Given the description of an element on the screen output the (x, y) to click on. 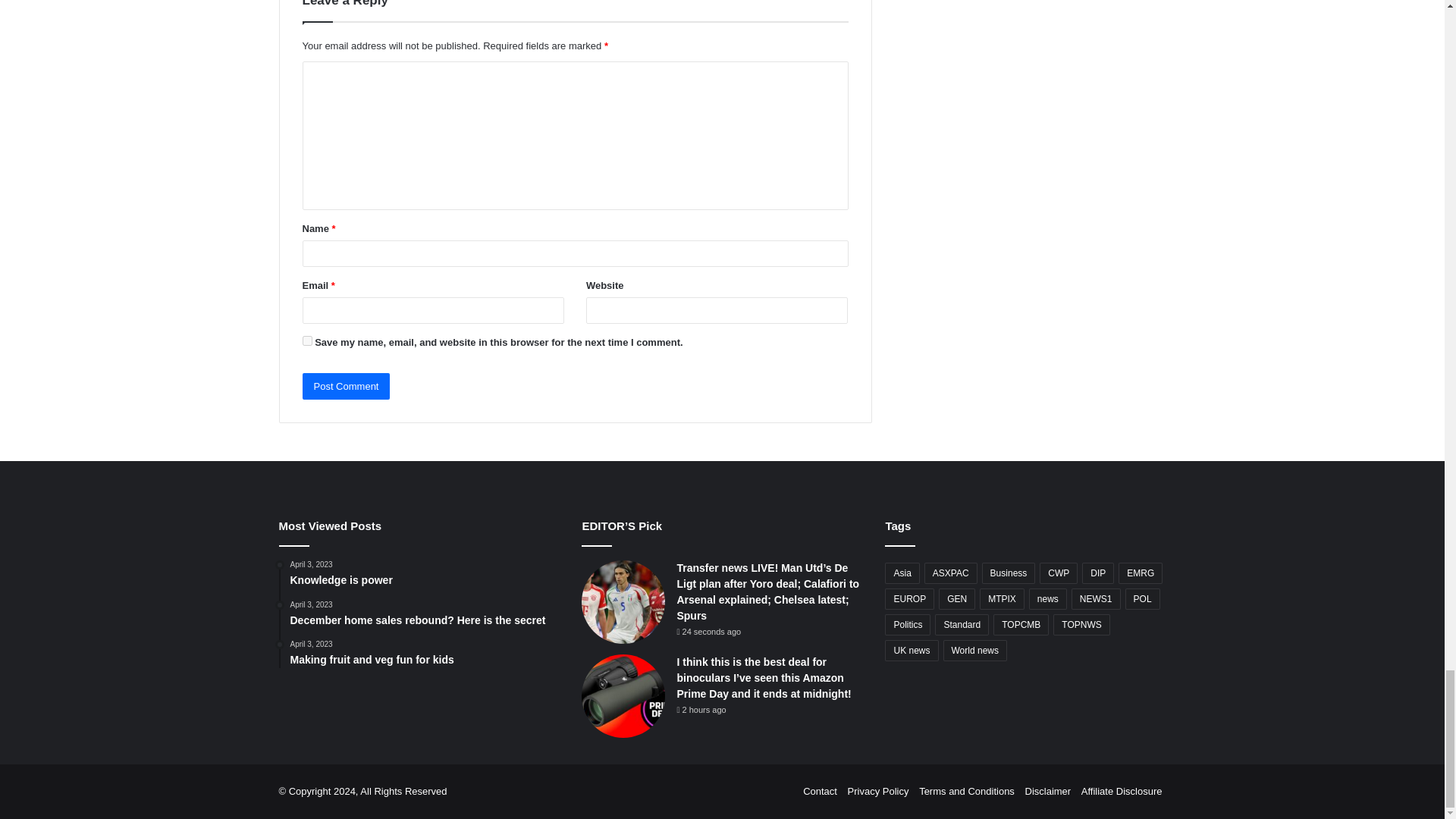
Post Comment (345, 386)
yes (306, 340)
